Given the description of an element on the screen output the (x, y) to click on. 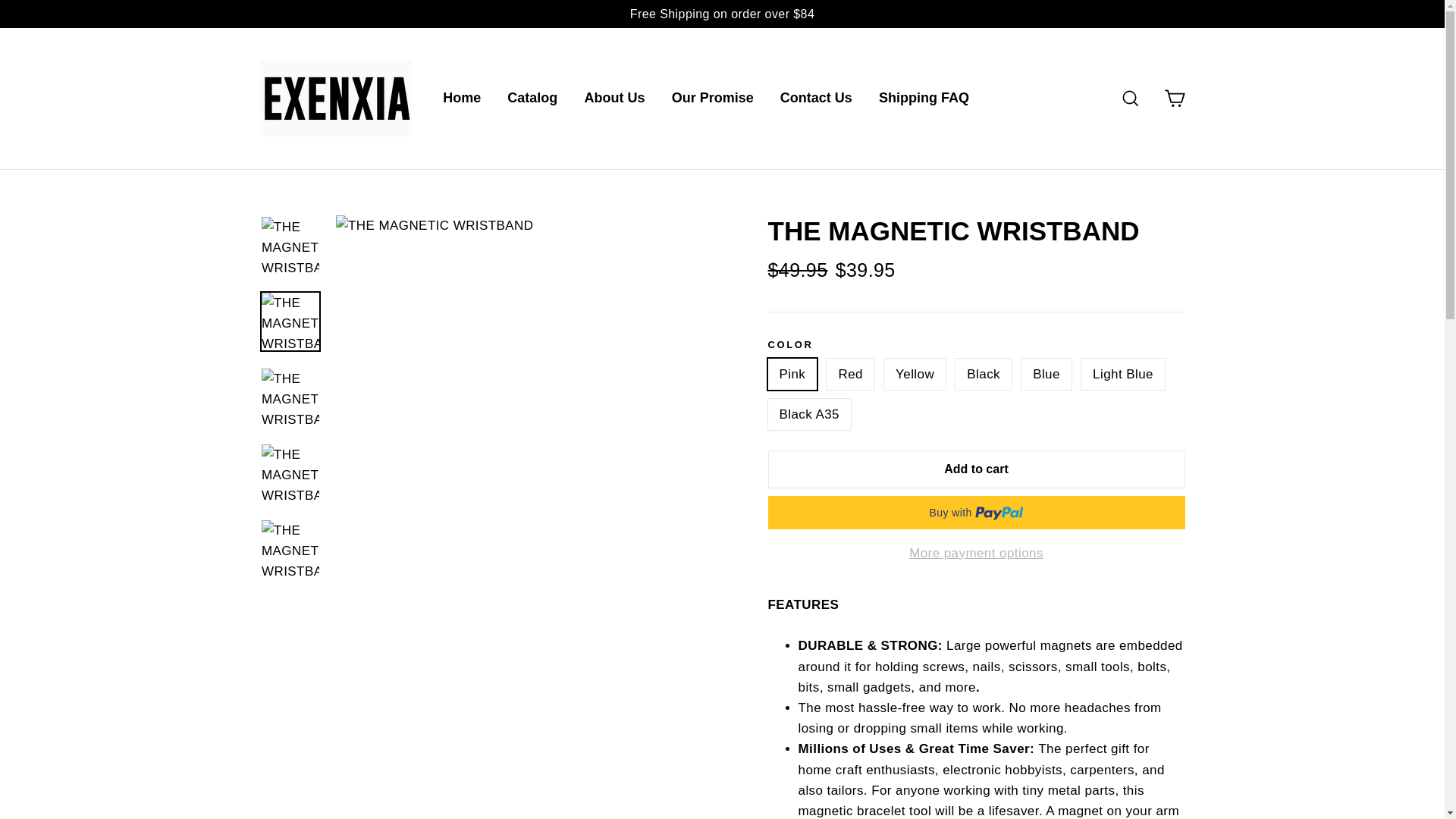
More payment options (976, 553)
Cart (1173, 97)
Add to cart (976, 469)
Catalog (532, 99)
Contact Us (815, 99)
Shipping FAQ (923, 99)
Search (1130, 97)
Home (461, 99)
